Given the description of an element on the screen output the (x, y) to click on. 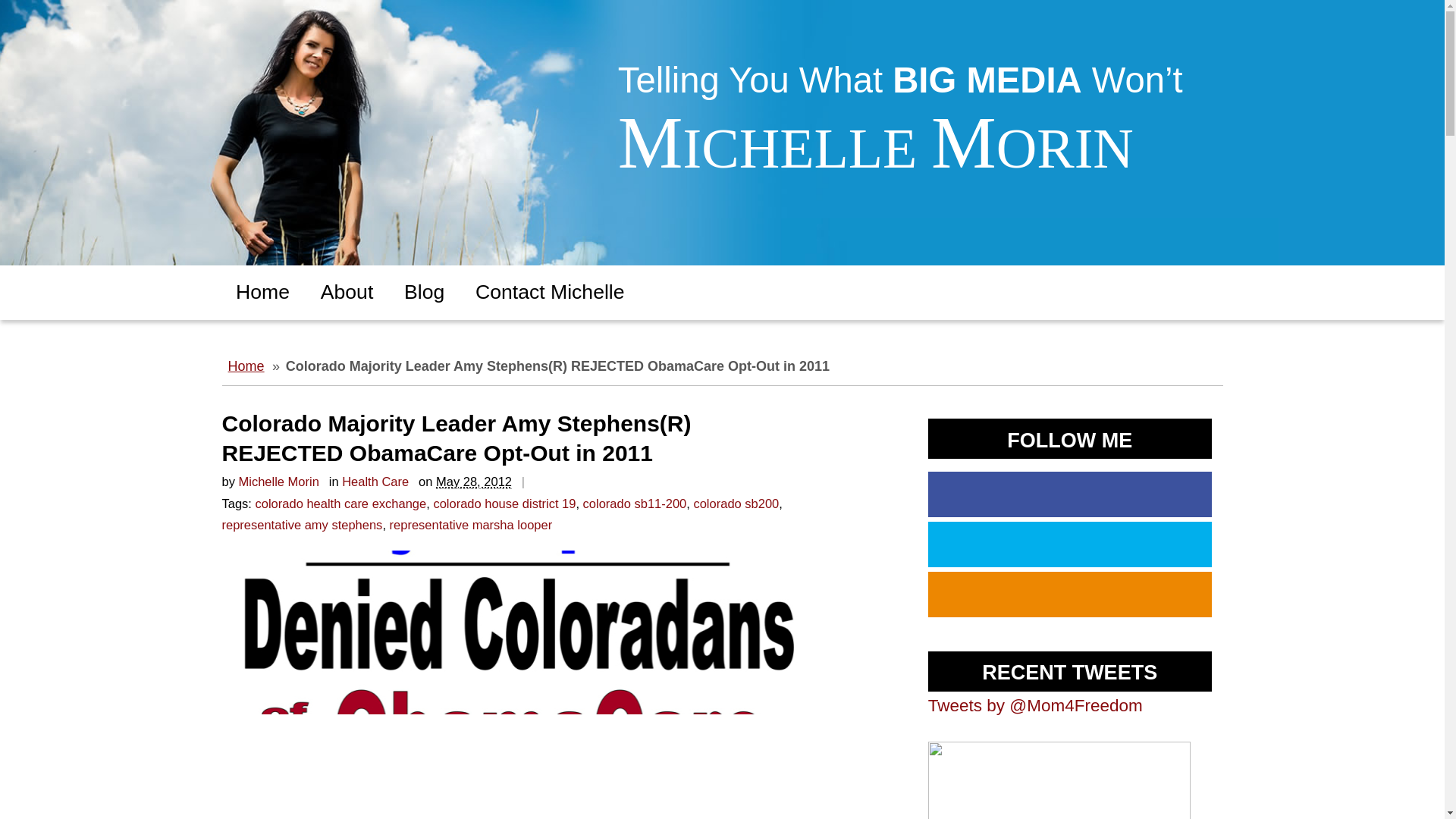
Home (261, 292)
Health Care (375, 481)
Home (245, 367)
colorado sb11-200 (635, 503)
Twitter (1069, 544)
Posts by Michelle Morin (278, 481)
representative amy stephens (301, 524)
Search (33, 12)
About (346, 292)
RSS (1069, 594)
Twitter (1157, 23)
Contact Michelle (550, 292)
colorado house district 19 (503, 503)
colorado sb200 (735, 503)
Facebook (1069, 493)
